Given the description of an element on the screen output the (x, y) to click on. 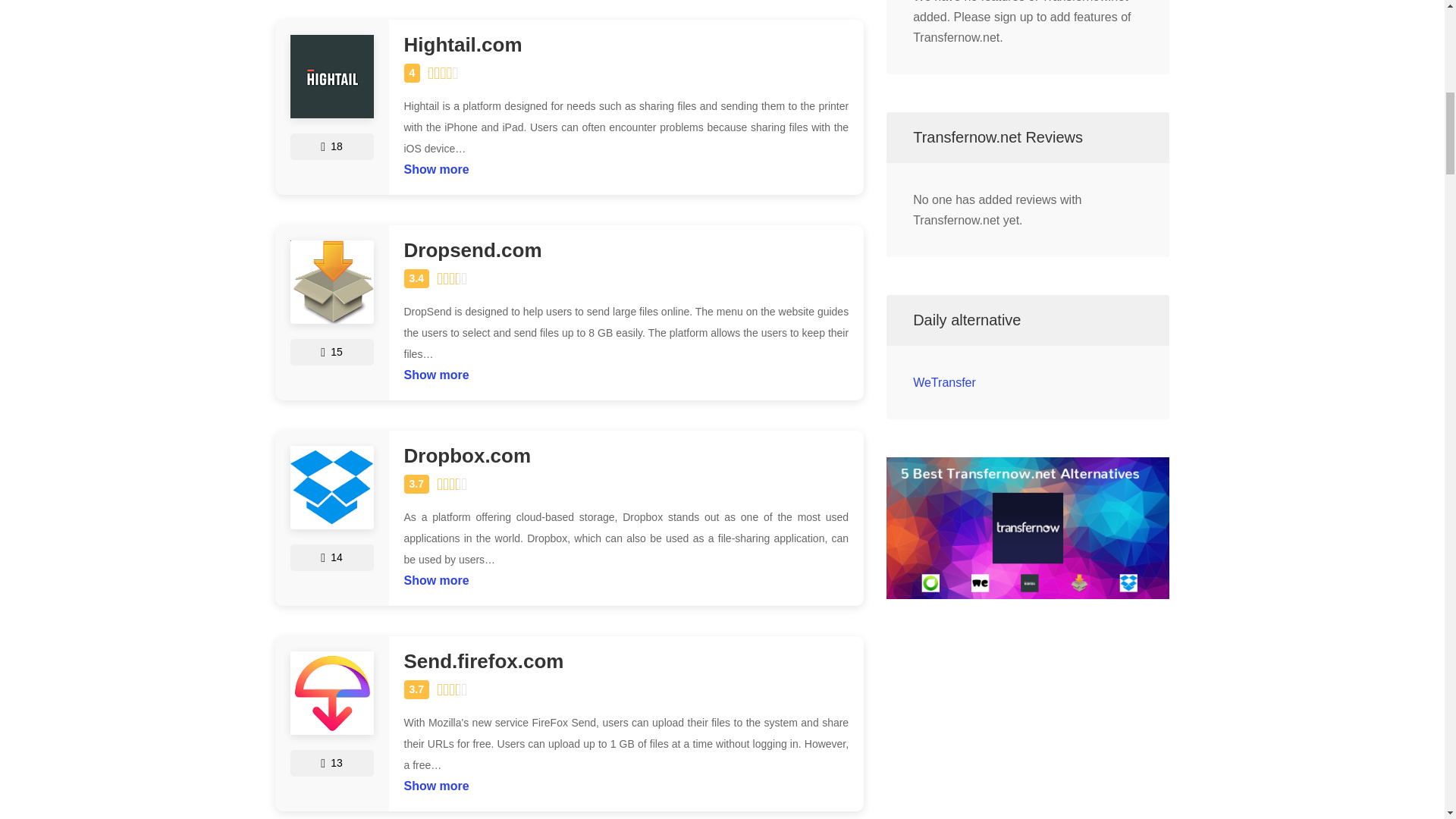
Show more (435, 576)
WeTransfer (943, 382)
Show more (435, 165)
Hightail.com (625, 45)
Show more (435, 371)
Dropbox.com (625, 455)
Send.firefox.com (625, 661)
Show more (435, 782)
Dropsend.com (625, 250)
